Given the description of an element on the screen output the (x, y) to click on. 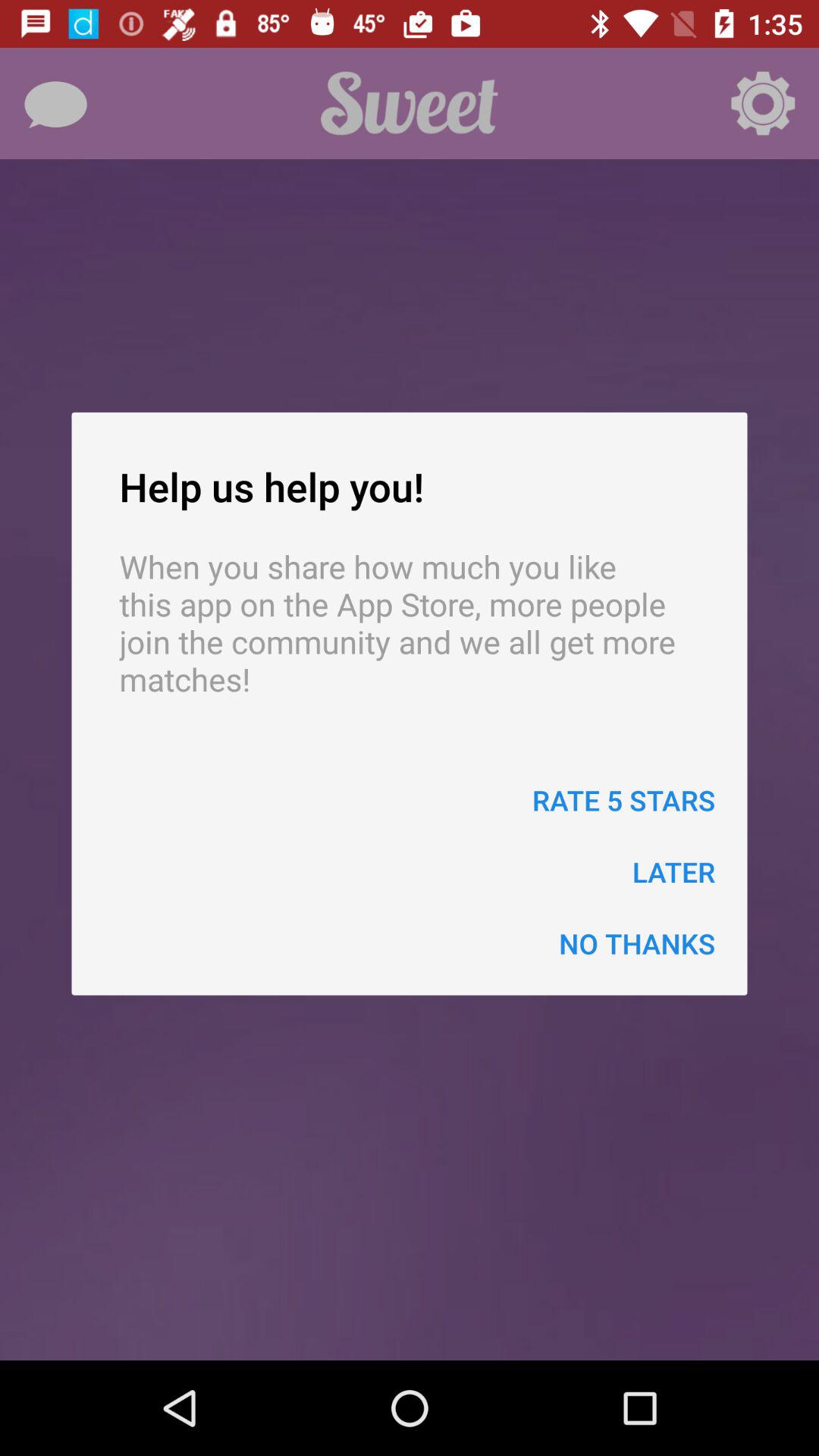
turn off the item below when you share (623, 800)
